Given the description of an element on the screen output the (x, y) to click on. 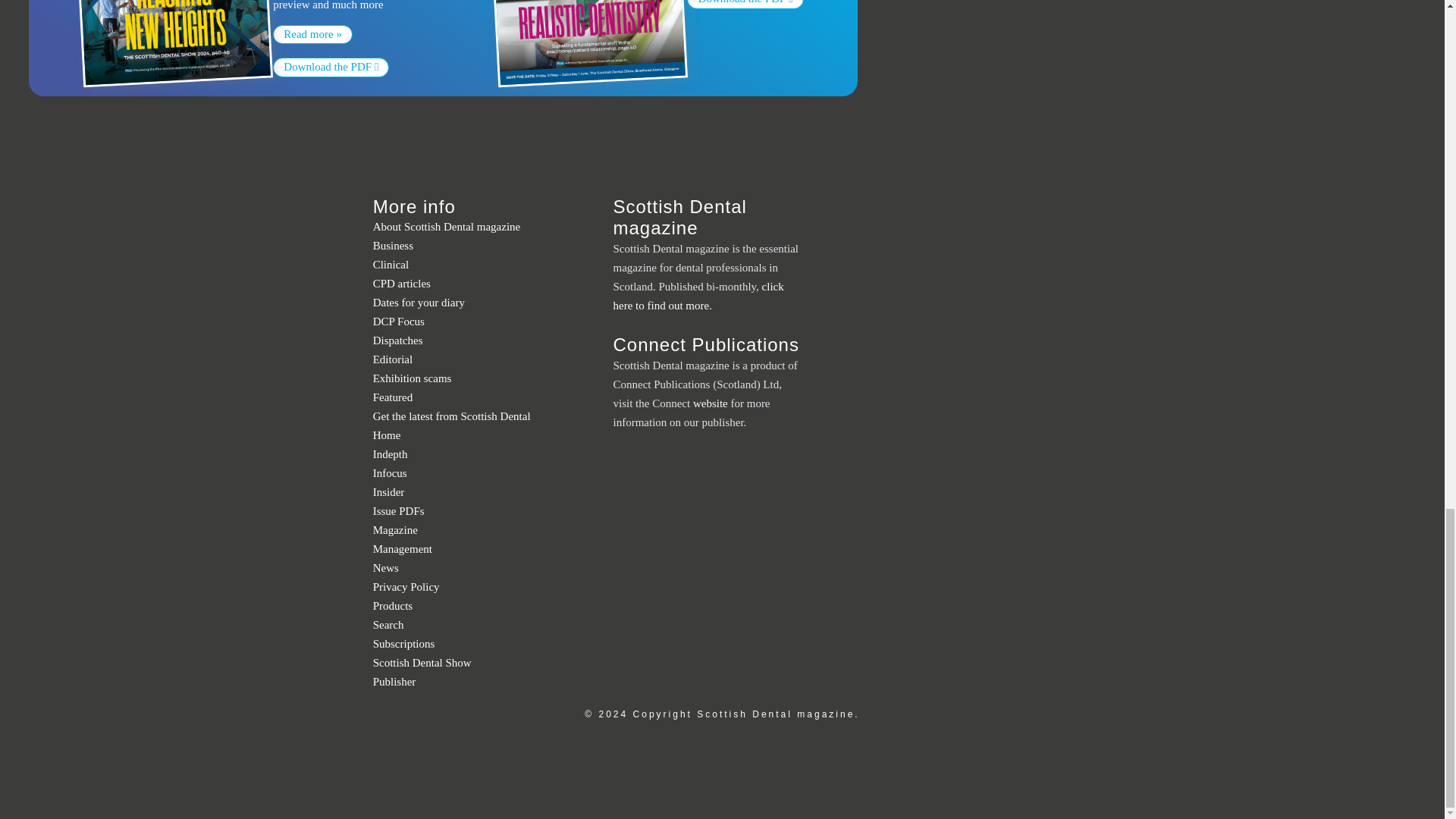
Visit the Scottish Dental Show online (421, 662)
Click here to download a PDF (745, 4)
Click here to download a PDF (330, 66)
Visit the Connect website (394, 681)
Download the PDF (330, 66)
